Given the description of an element on the screen output the (x, y) to click on. 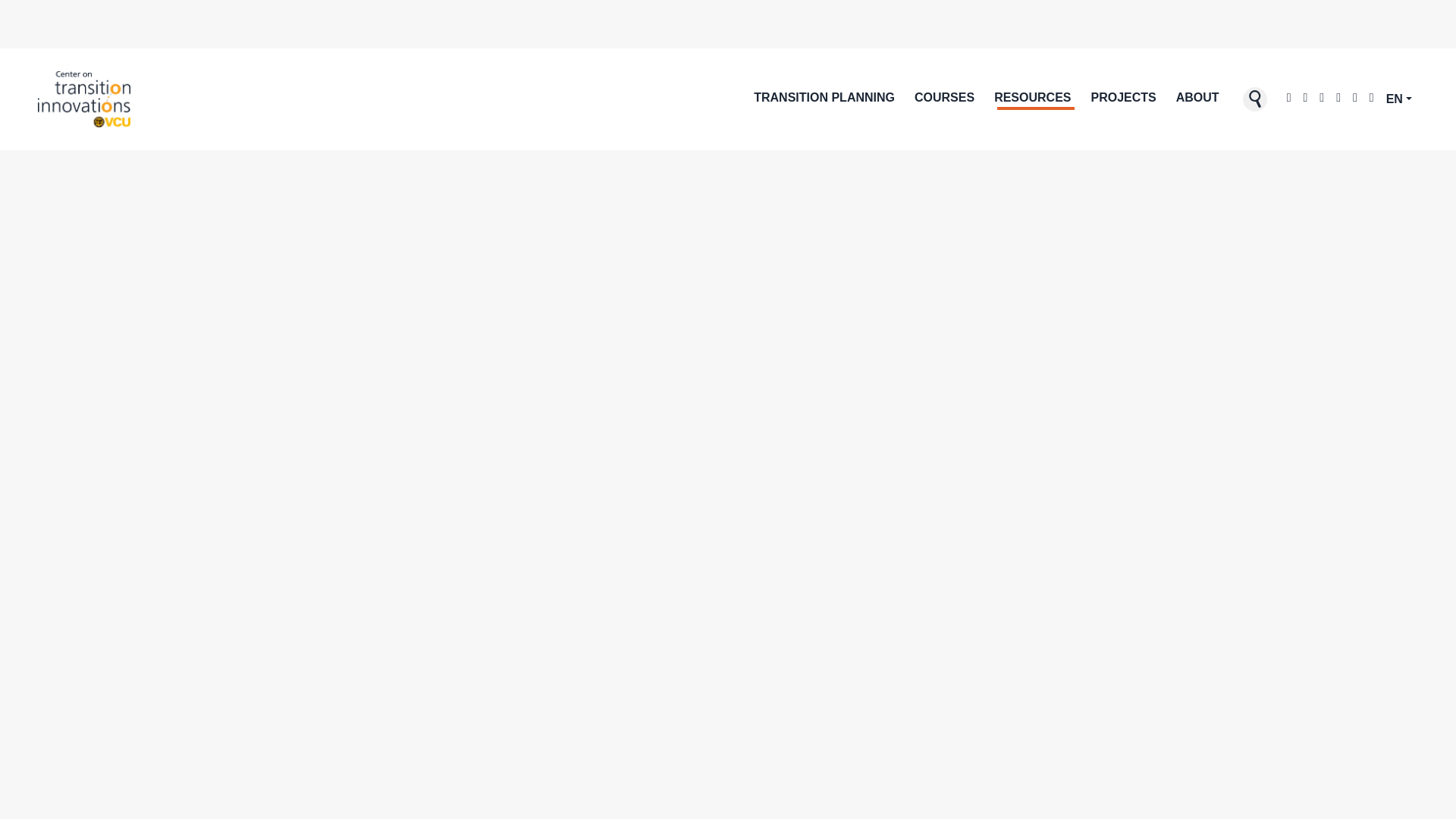
COURSES (943, 99)
RESOURCES (1032, 99)
ABOUT (1197, 99)
PROJECTS (1122, 99)
TRANSITION PLANNING (824, 99)
